Given the description of an element on the screen output the (x, y) to click on. 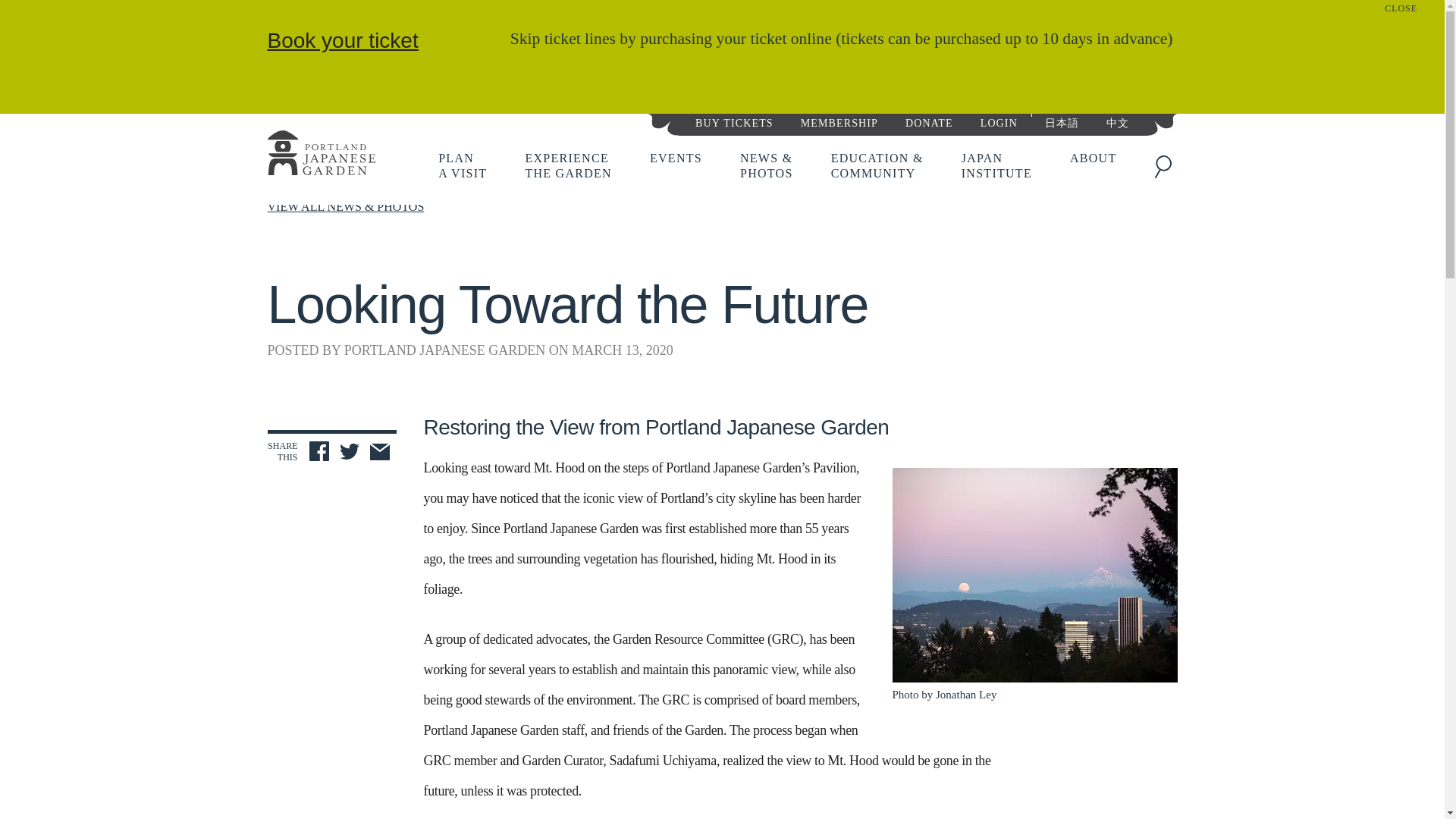
Book your ticket (341, 40)
Click to email a link to a friend (379, 453)
Click to share on Twitter (349, 453)
BUY TICKETS (734, 120)
MEMBERSHIP (839, 120)
Portland Japanese Garden (320, 155)
DONATE (462, 165)
Click to share on Facebook (928, 120)
LOGIN (318, 451)
